Given the description of an element on the screen output the (x, y) to click on. 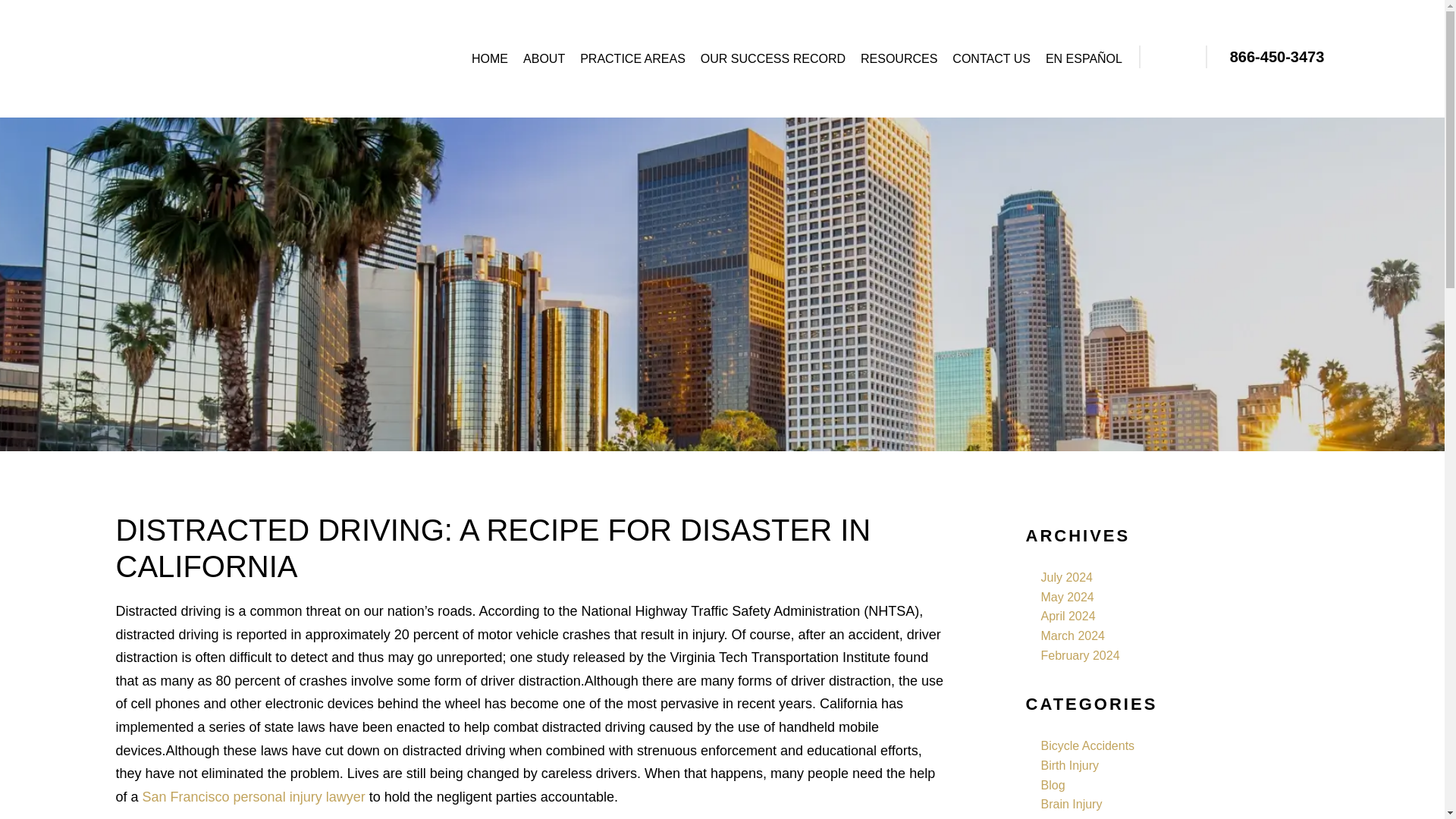
ABOUT (543, 58)
HOME (489, 58)
PRACTICE AREAS (632, 58)
